Given the description of an element on the screen output the (x, y) to click on. 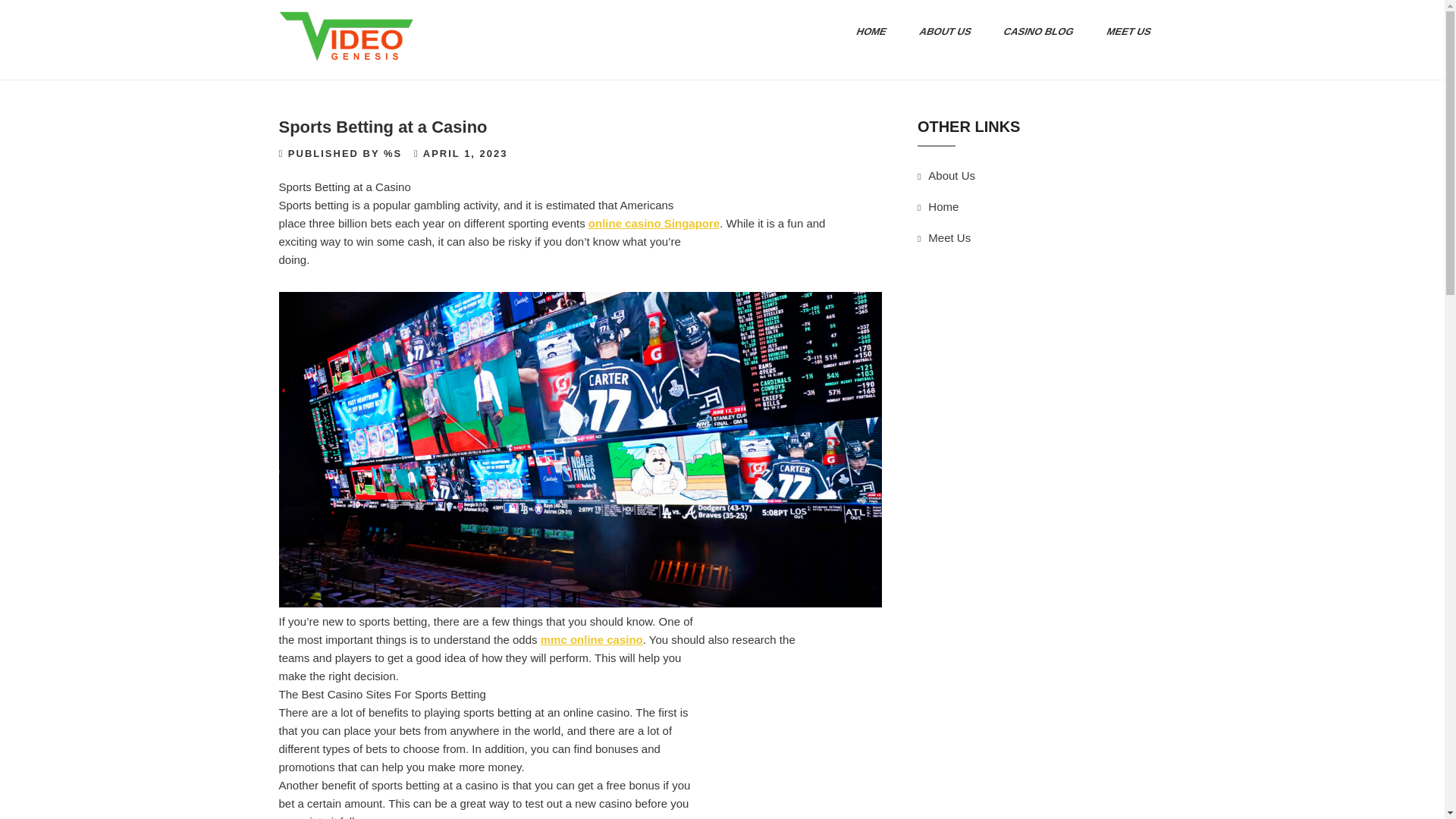
ABOUT US (938, 31)
MEET US (1123, 31)
About Us (951, 174)
Home (943, 205)
online casino Singapore (653, 223)
HOME (865, 31)
CASINO BLOG (1032, 31)
Meet Us (949, 237)
mmc online casino (591, 639)
Video Genesis.net (335, 92)
